Given the description of an element on the screen output the (x, y) to click on. 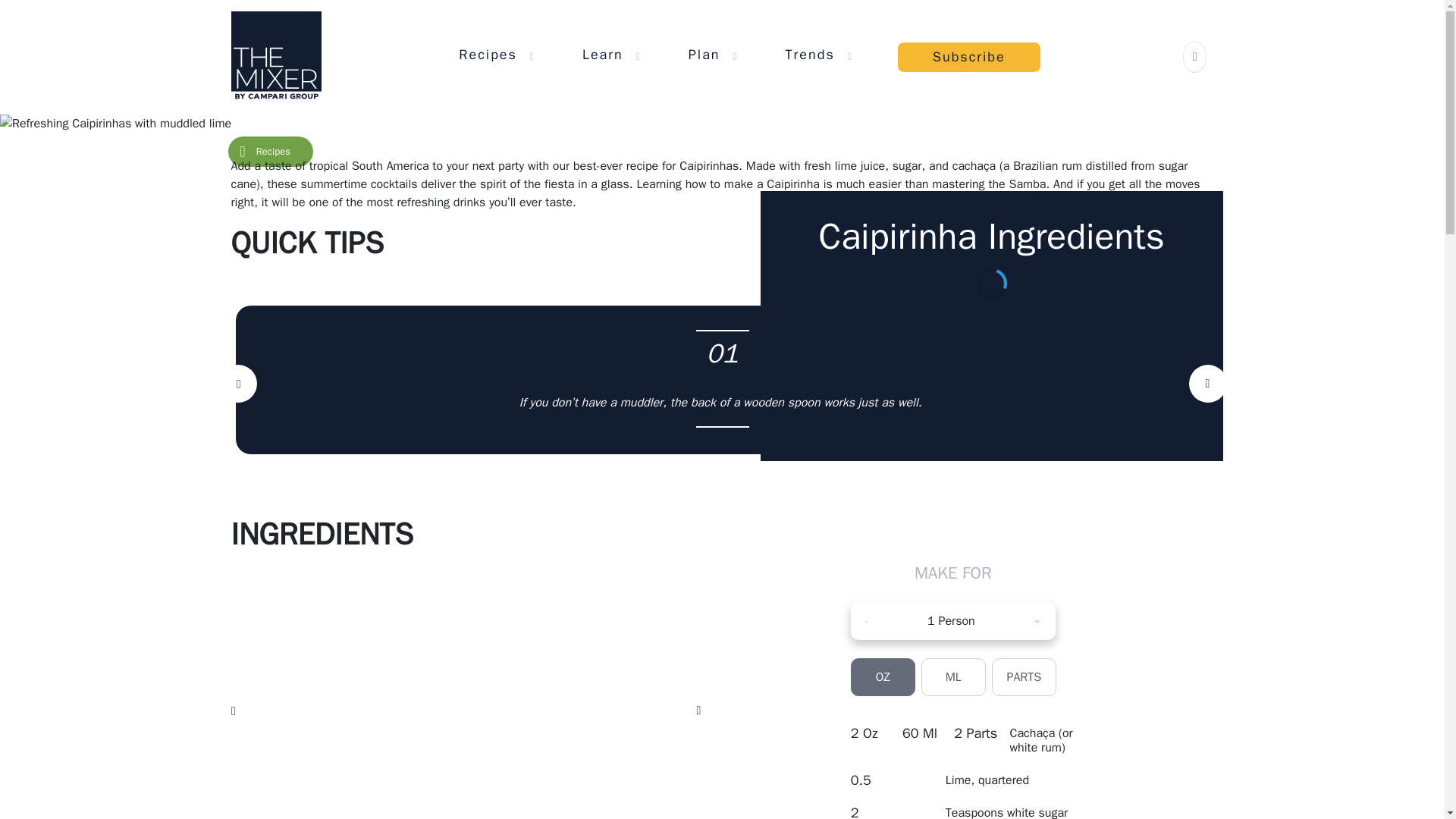
The Mixer (275, 56)
Recipes (487, 53)
Learn (602, 53)
Trends (809, 53)
Plan (704, 53)
Search Opener (1195, 56)
The Mixer (275, 56)
